Given the description of an element on the screen output the (x, y) to click on. 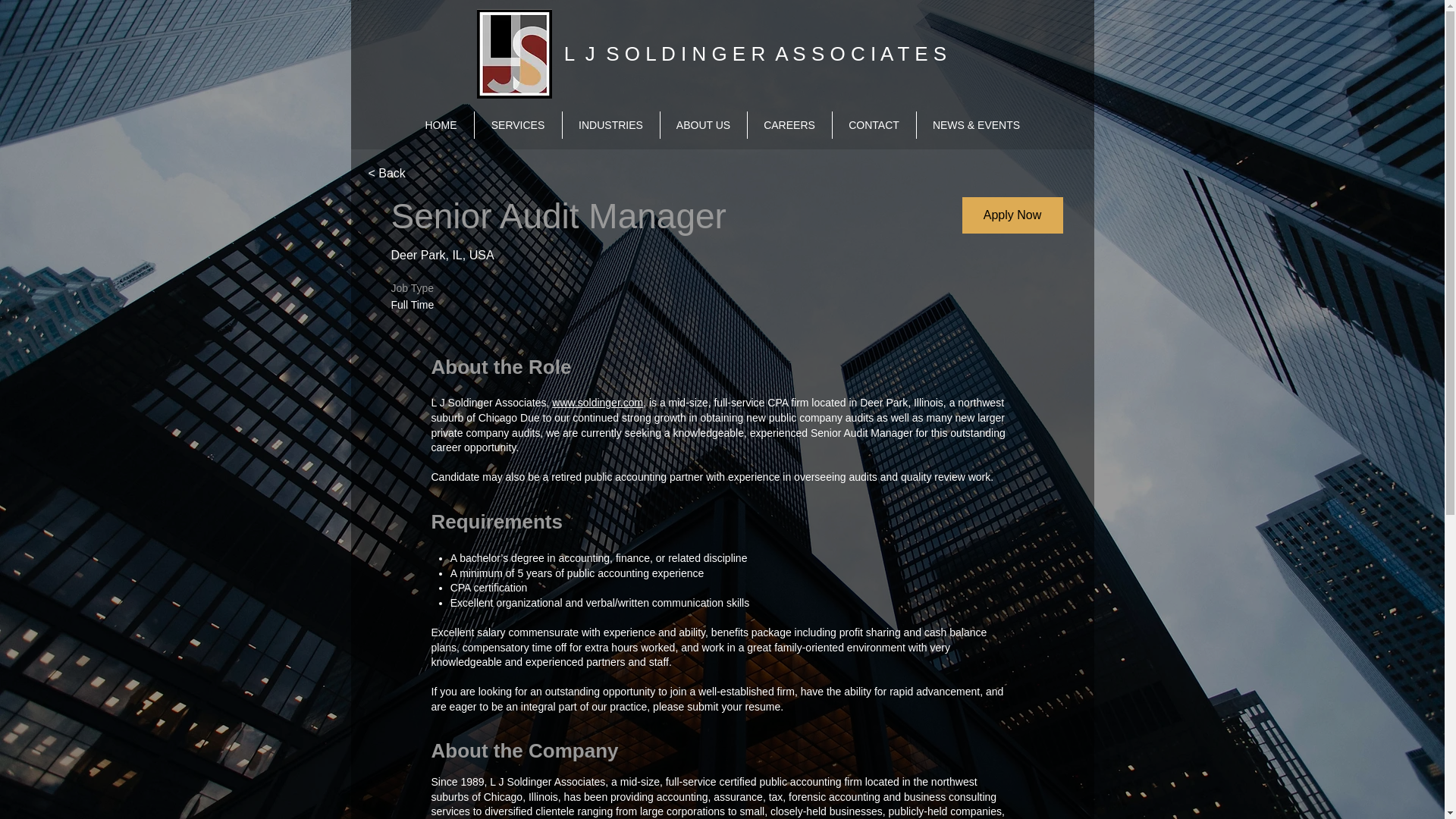
ABOUT US (702, 124)
Apply Now (1011, 215)
HOME (440, 124)
L  J  S O L D I N G E R  A S S O C I A T E S (755, 53)
CONTACT (873, 124)
INDUSTRIES (610, 124)
SERVICES (518, 124)
www.soldinger.com (597, 402)
CAREERS (789, 124)
